Given the description of an element on the screen output the (x, y) to click on. 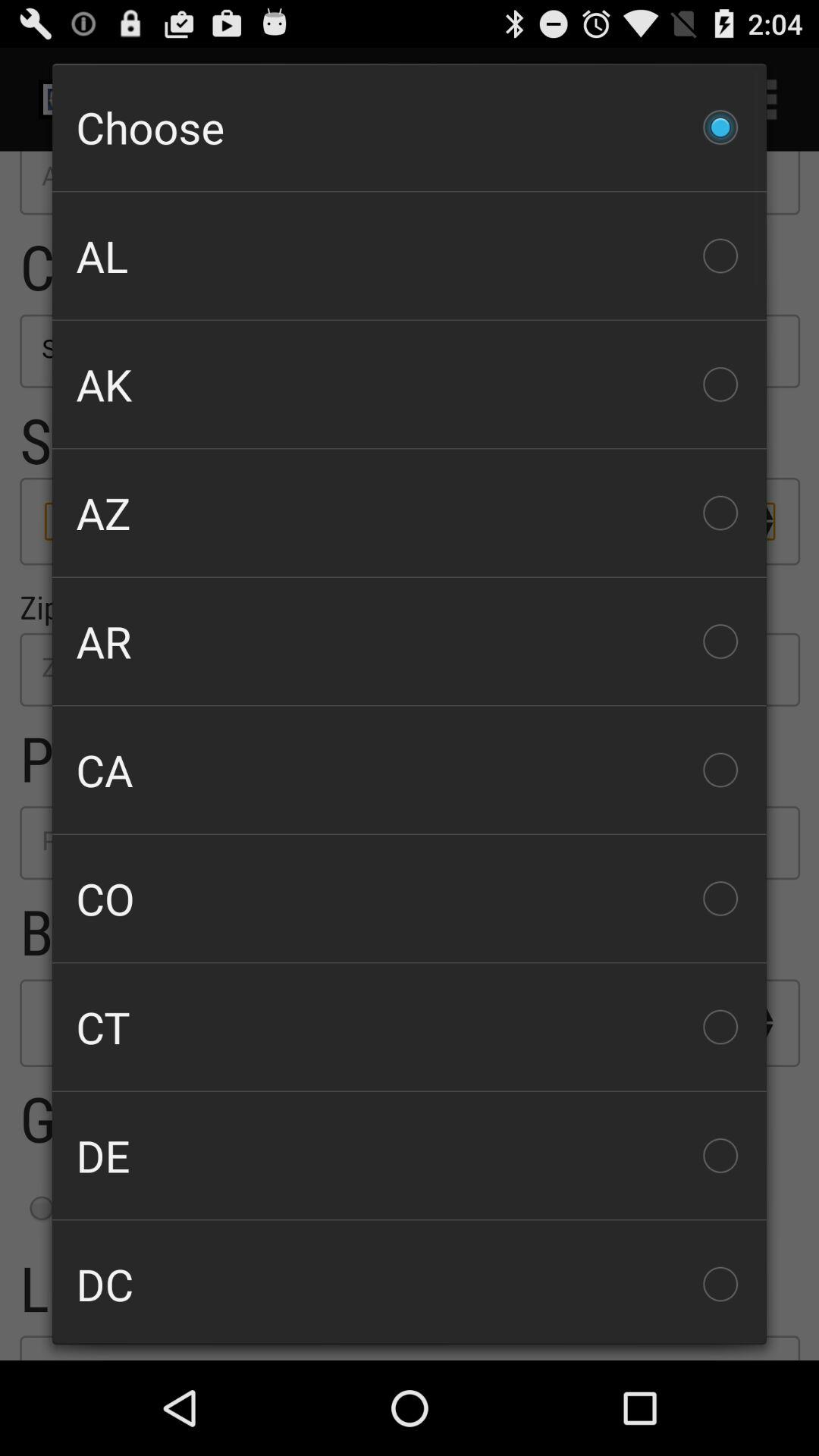
tap icon below the de icon (409, 1282)
